Given the description of an element on the screen output the (x, y) to click on. 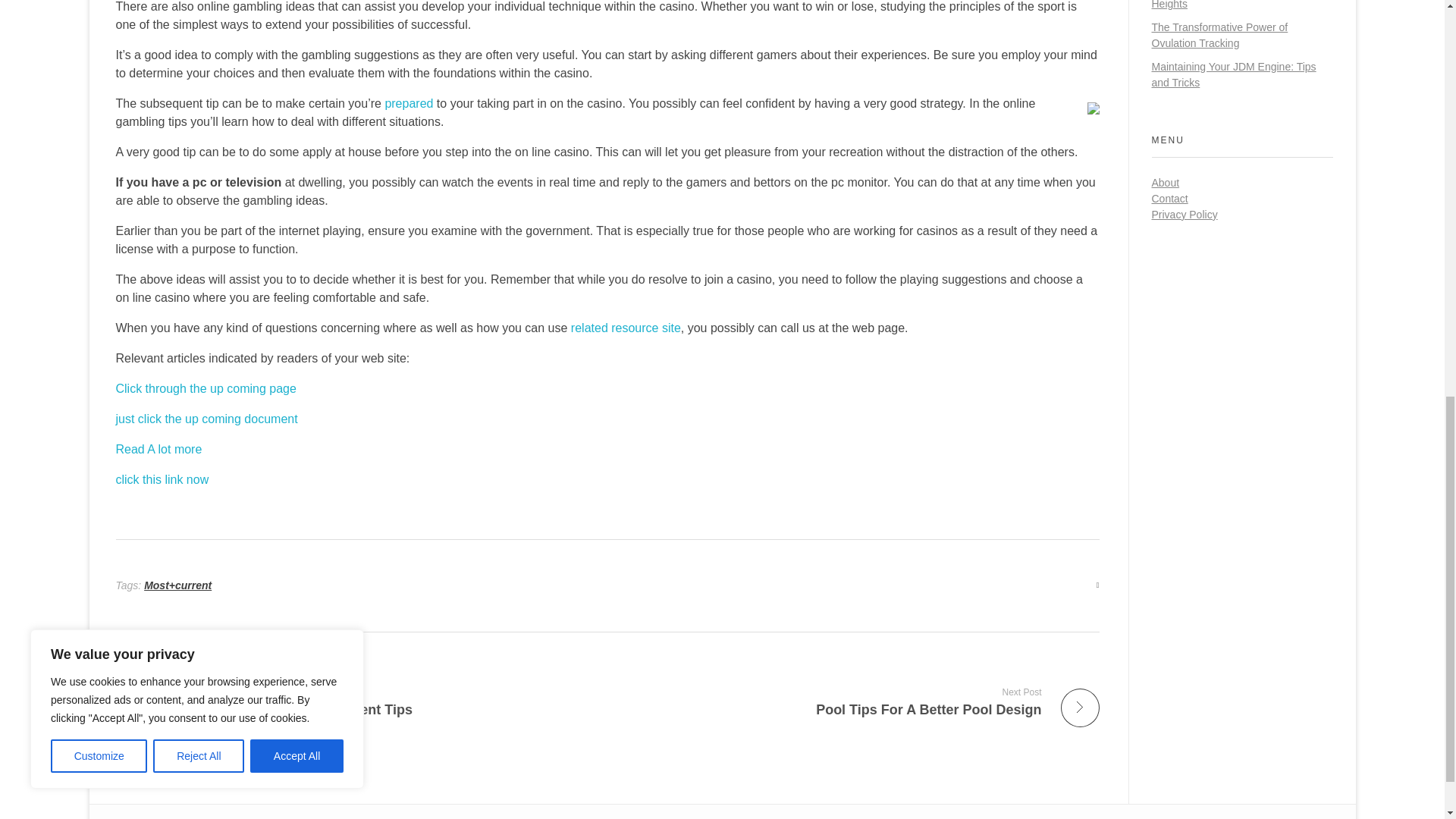
click this link now (161, 479)
prepared (355, 701)
Click through the up coming page (408, 103)
just click the up coming document (205, 388)
related resource site (206, 418)
Read A lot more (625, 327)
